Given the description of an element on the screen output the (x, y) to click on. 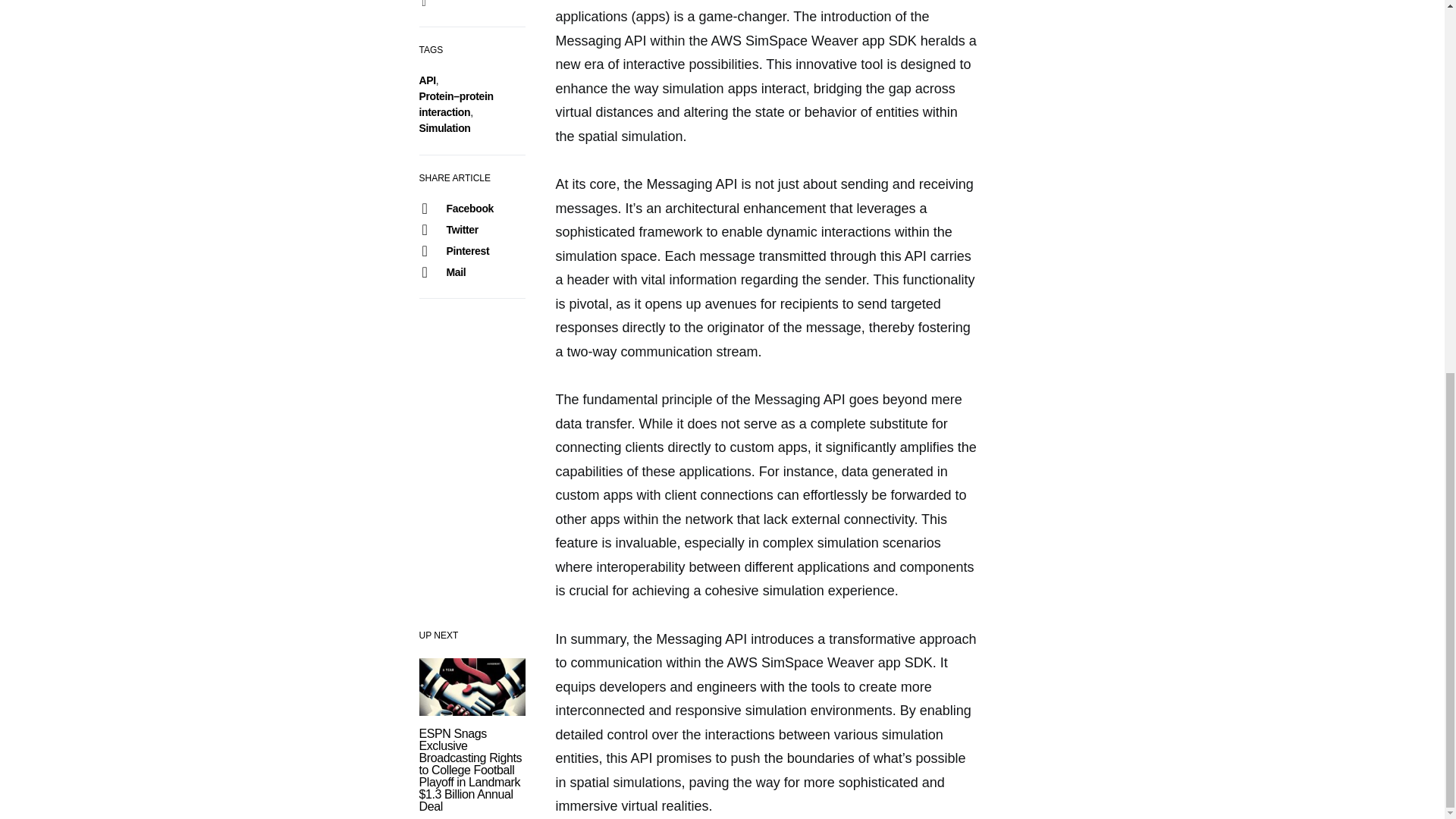
Mail (470, 271)
Simulation (444, 128)
Pinterest (470, 250)
Facebook (470, 208)
Twitter (470, 229)
API (427, 80)
